Given the description of an element on the screen output the (x, y) to click on. 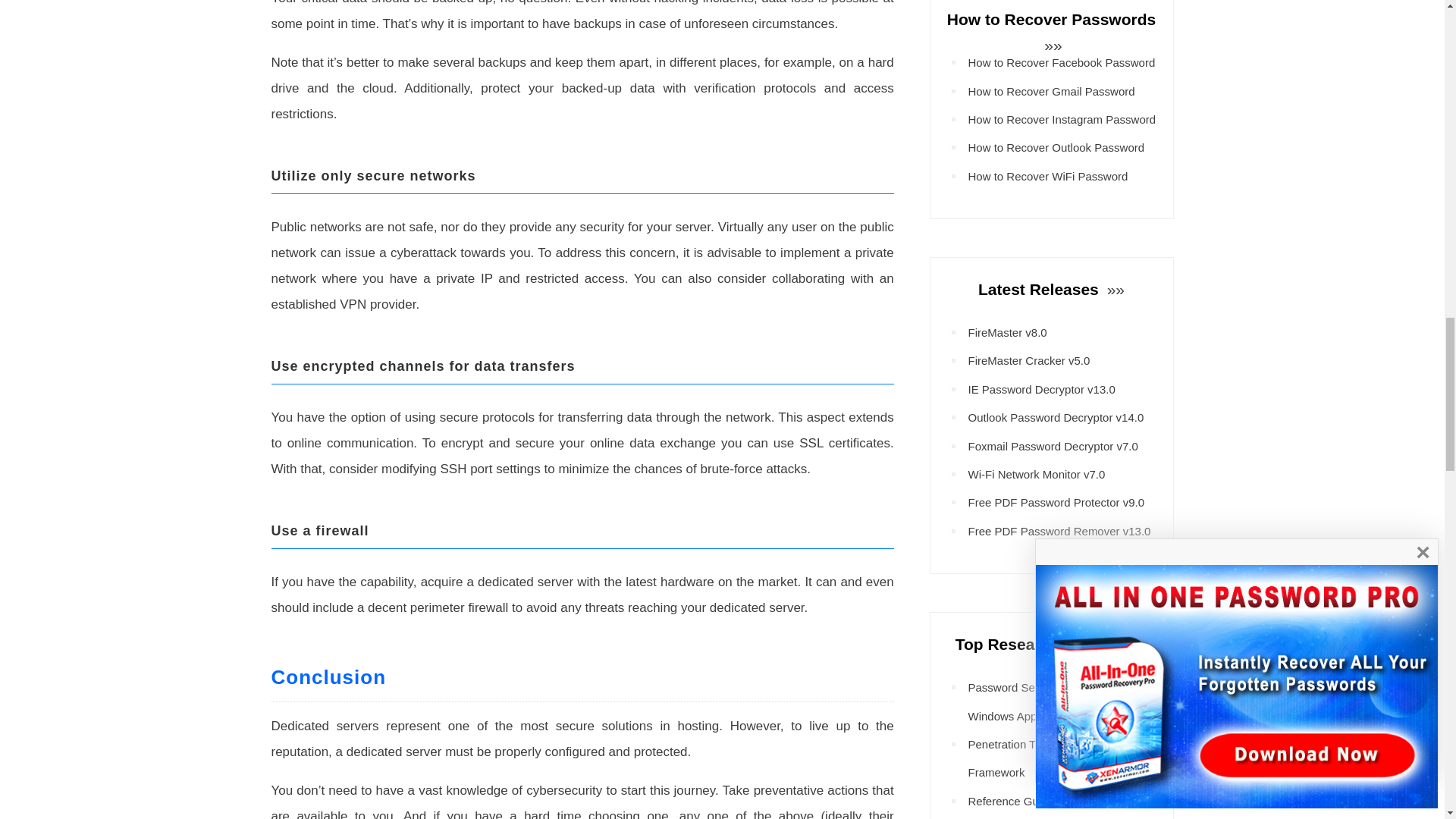
See More... (1051, 45)
See More... (1113, 289)
See More... (1136, 643)
